Given the description of an element on the screen output the (x, y) to click on. 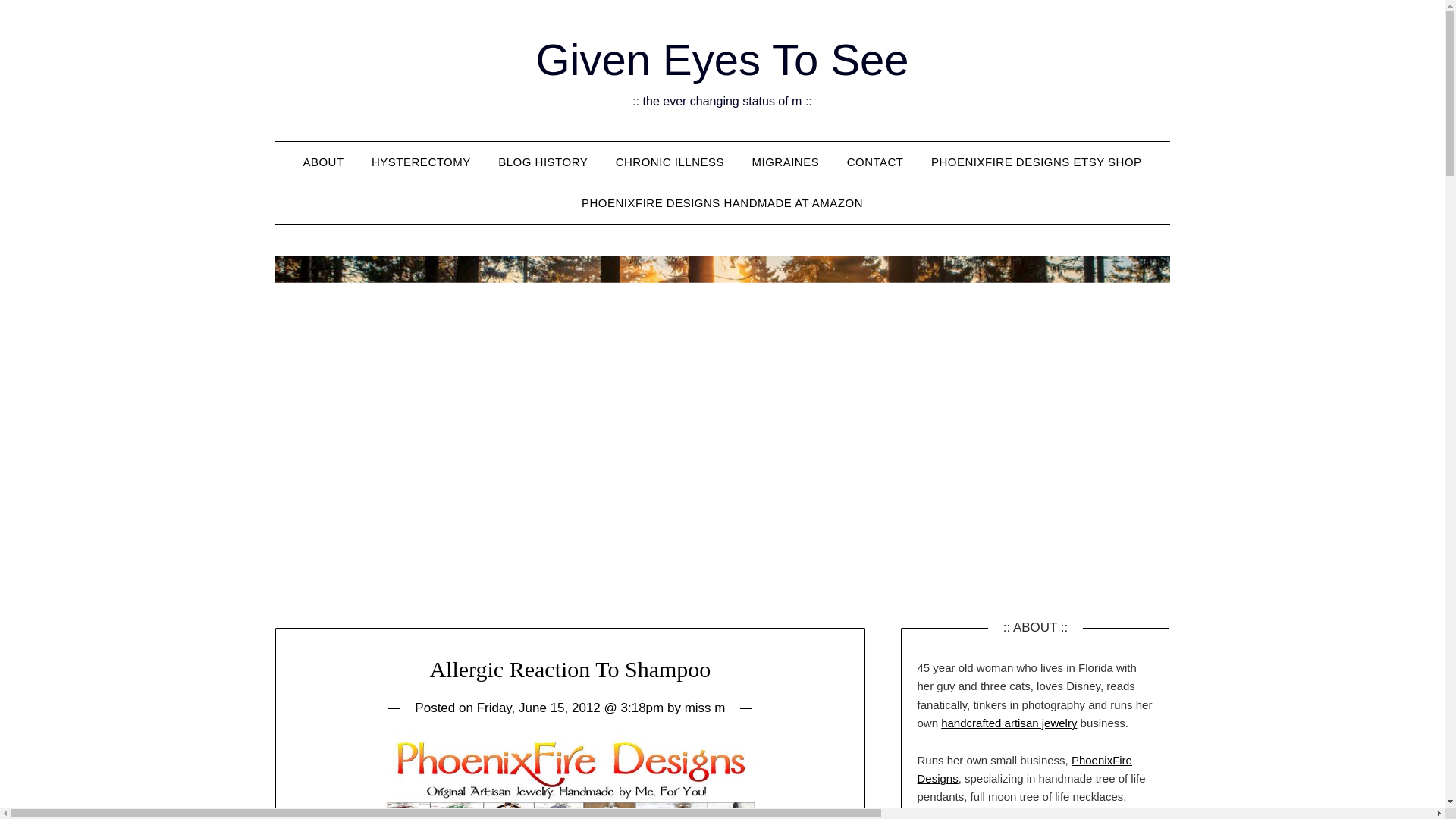
Given Eyes To See (721, 59)
CONTACT (874, 161)
ABOUT (322, 161)
BLOG HISTORY (542, 161)
CHRONIC ILLNESS (670, 161)
MIGRAINES (785, 161)
HYSTERECTOMY (421, 161)
PHOENIXFIRE DESIGNS ETSY SHOP (1036, 161)
miss m (704, 707)
PhoenixFire Designs (1024, 768)
